Given the description of an element on the screen output the (x, y) to click on. 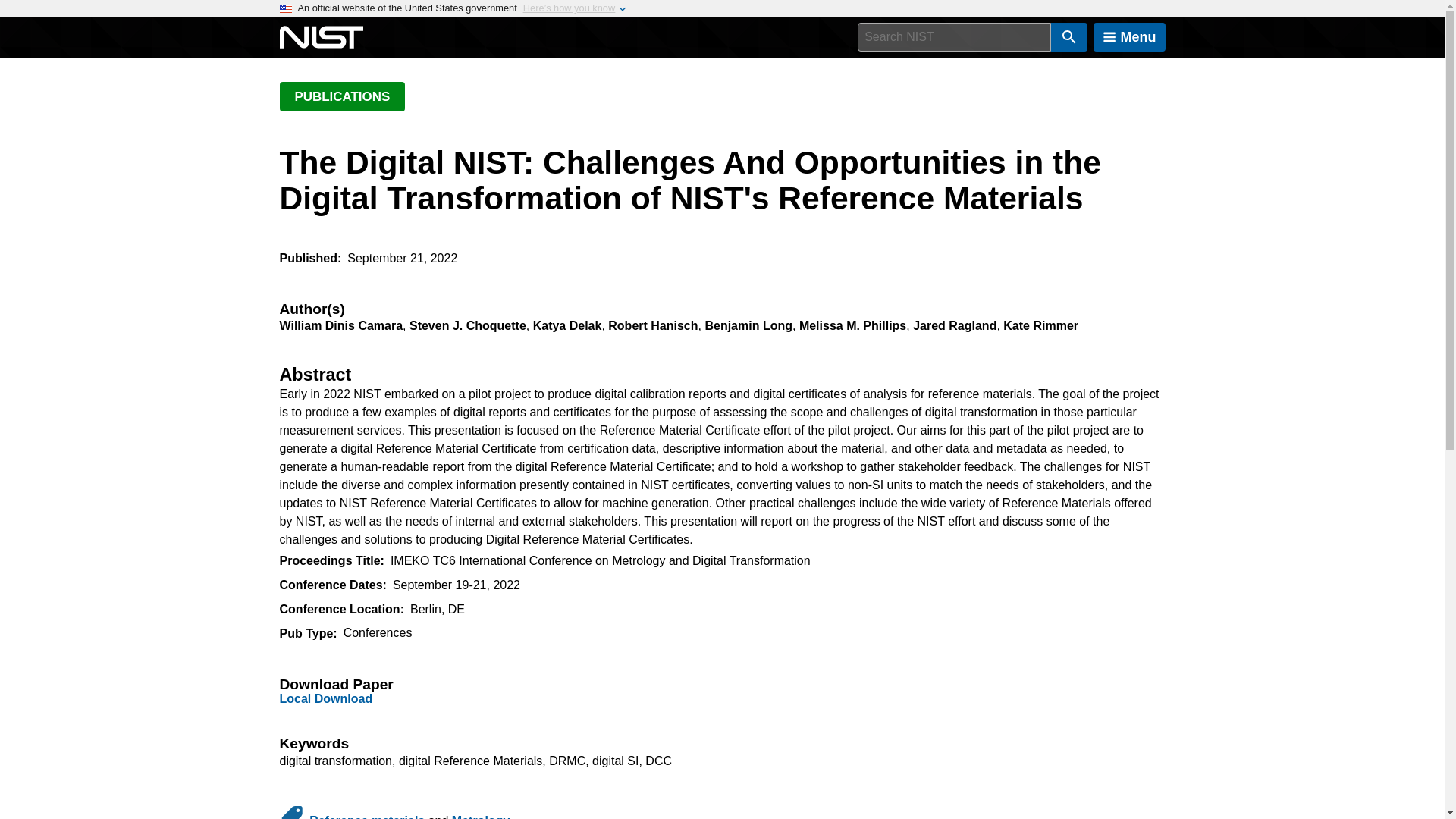
Local Download (325, 698)
Menu (1129, 36)
PUBLICATIONS (341, 96)
National Institute of Standards and Technology (320, 36)
Metrology (480, 816)
Reference materials (366, 816)
